Given the description of an element on the screen output the (x, y) to click on. 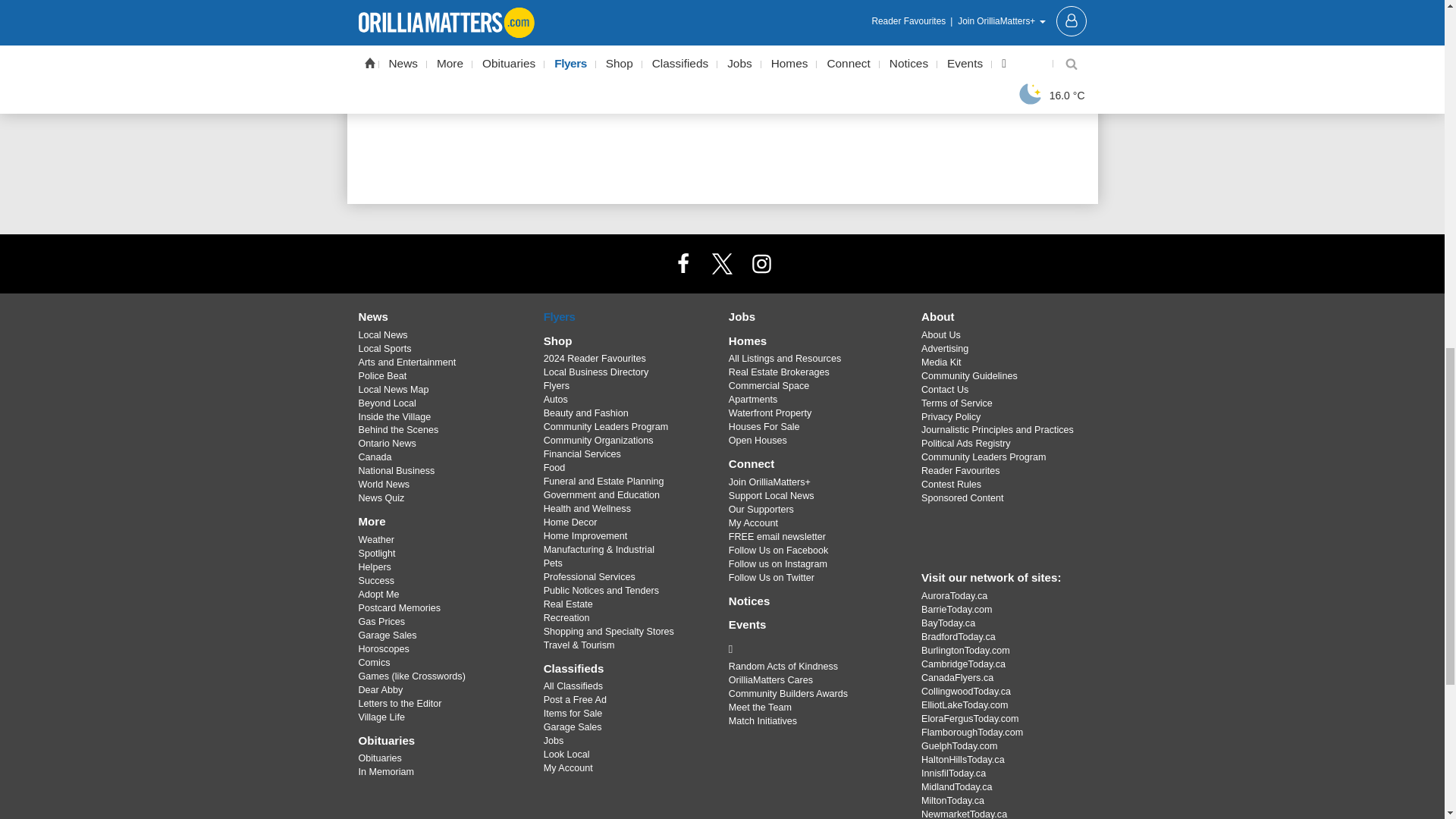
Instagram (760, 262)
Facebook (683, 262)
X (721, 262)
OrilliaMatters Cares (813, 648)
